Given the description of an element on the screen output the (x, y) to click on. 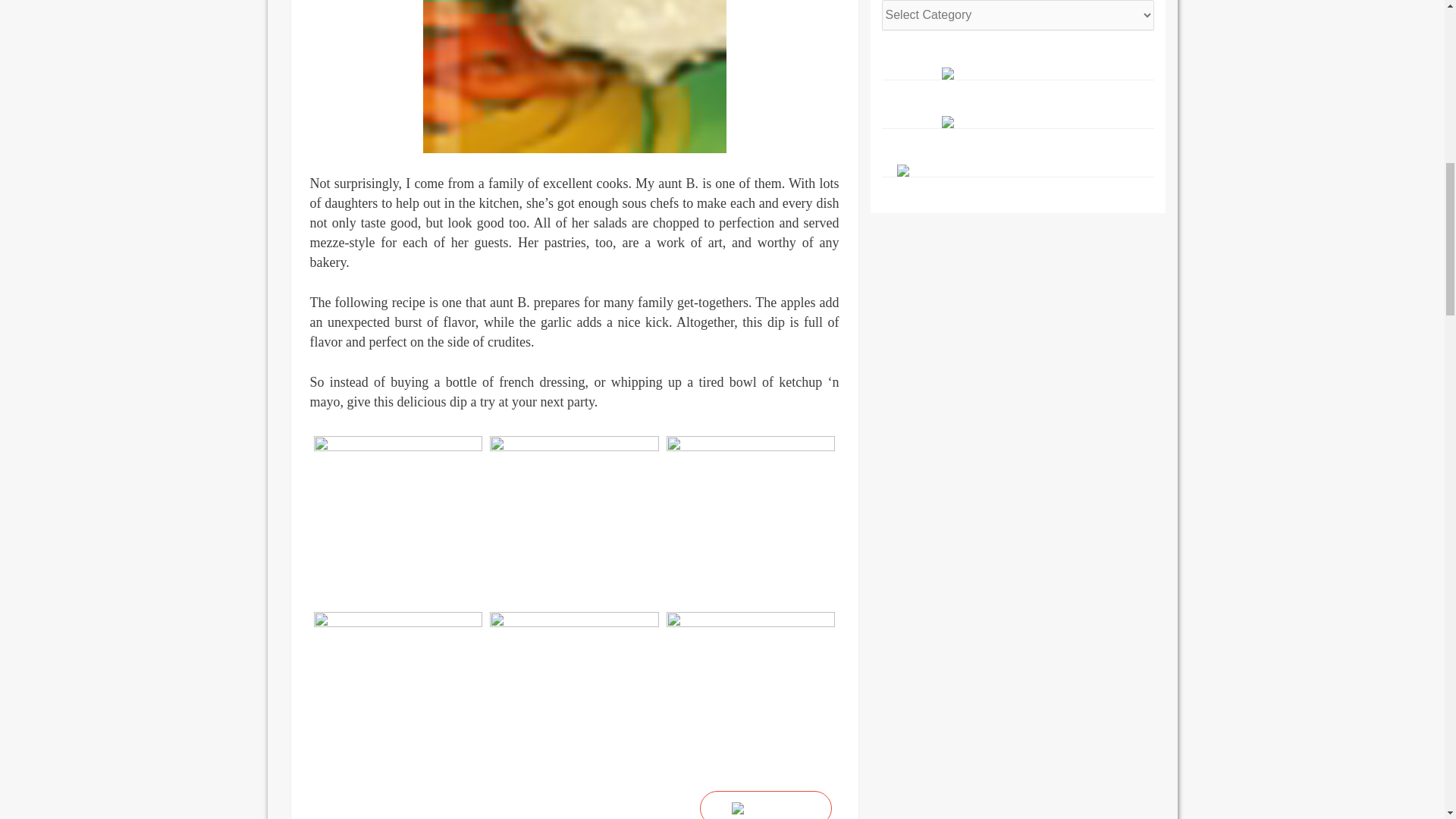
       Print This!     (765, 805)
